Given the description of an element on the screen output the (x, y) to click on. 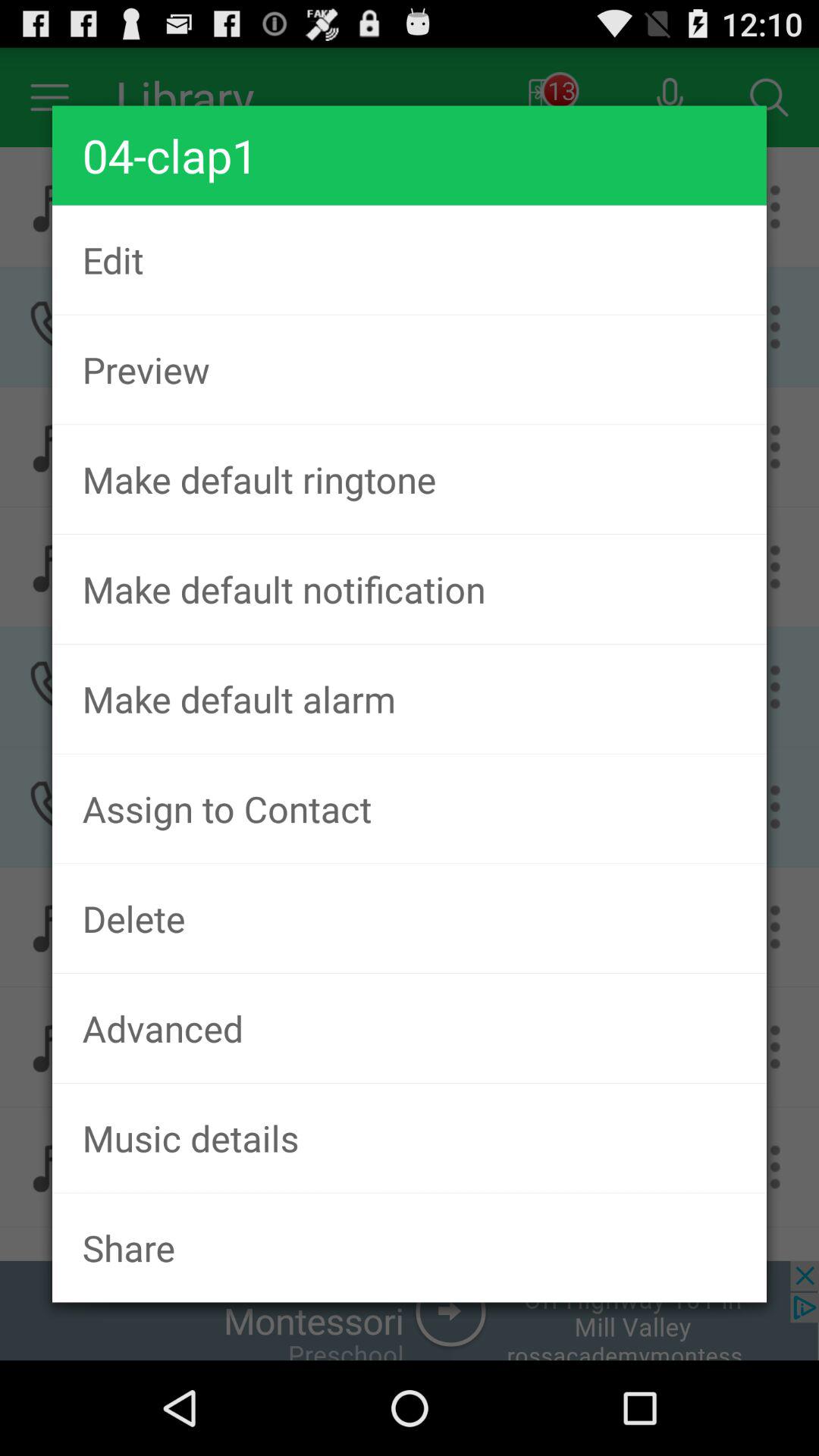
turn on the share item (409, 1247)
